Given the description of an element on the screen output the (x, y) to click on. 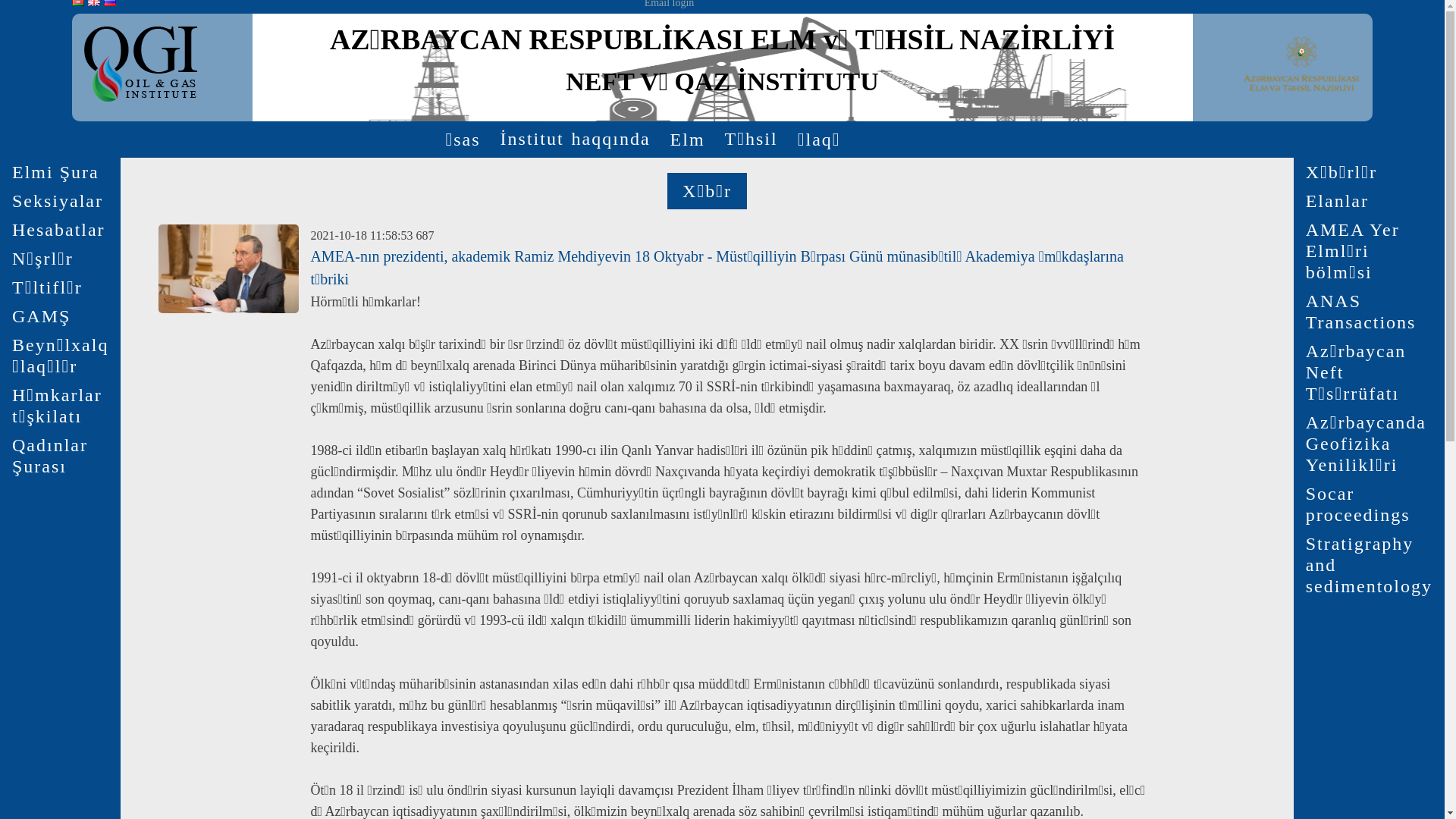
Stratigraphy and sedimentology Element type: text (1368, 564)
Socar proceedings Element type: text (1368, 504)
Elm Element type: text (687, 139)
Elanlar Element type: text (1336, 200)
ANAS Transactions Element type: text (1368, 311)
Hesabatlar Element type: text (58, 229)
Seksiyalar Element type: text (57, 200)
